Given the description of an element on the screen output the (x, y) to click on. 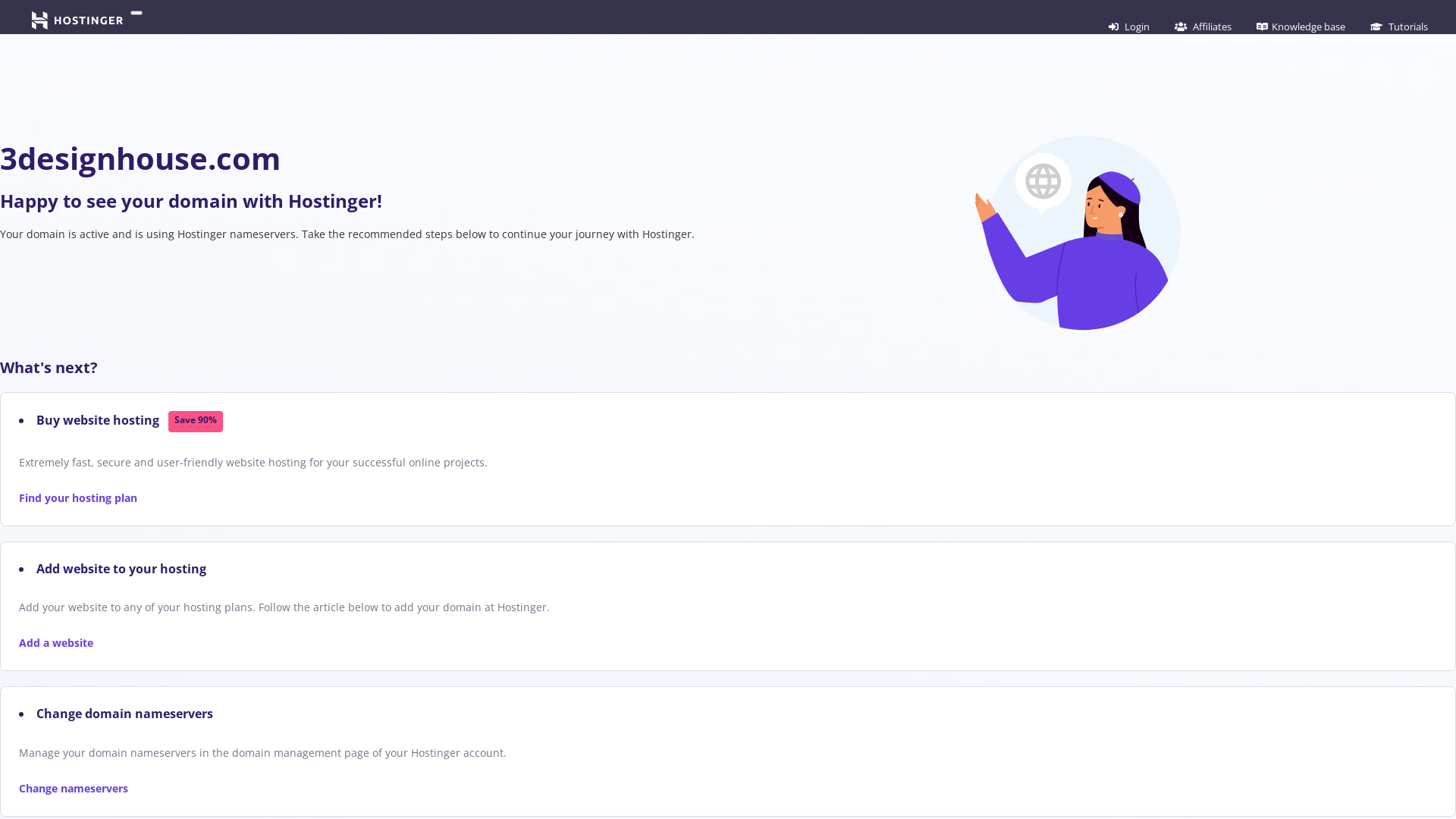
Knowledge base Element type: text (1300, 26)
Change nameservers Element type: text (73, 788)
Login Element type: text (1128, 26)
Find your hosting plan Element type: text (77, 497)
Tutorials Element type: text (1398, 26)
Affiliates Element type: text (1202, 26)
Add a website Element type: text (55, 642)
